Given the description of an element on the screen output the (x, y) to click on. 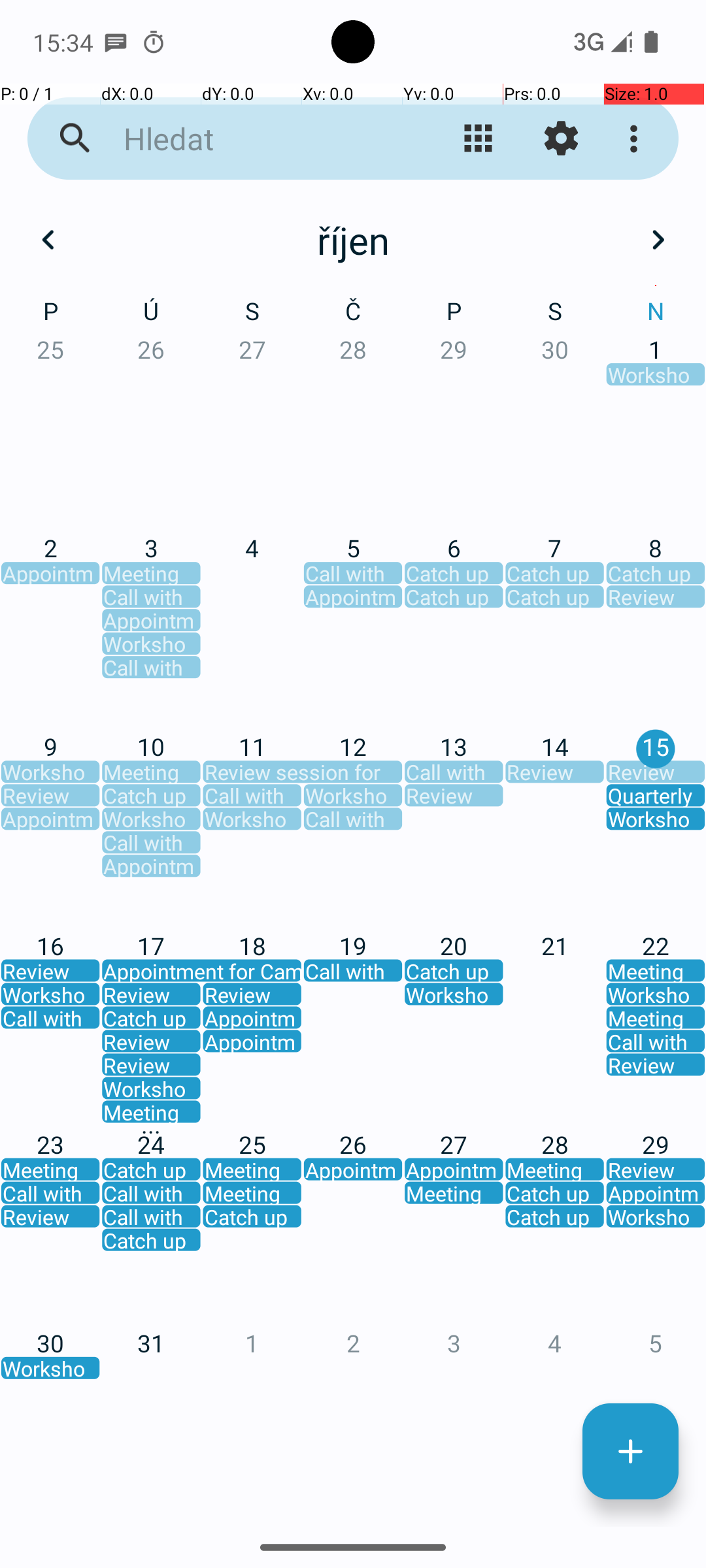
SMS Messenger notification: +17247648679 Element type: android.widget.ImageView (115, 41)
